Given the description of an element on the screen output the (x, y) to click on. 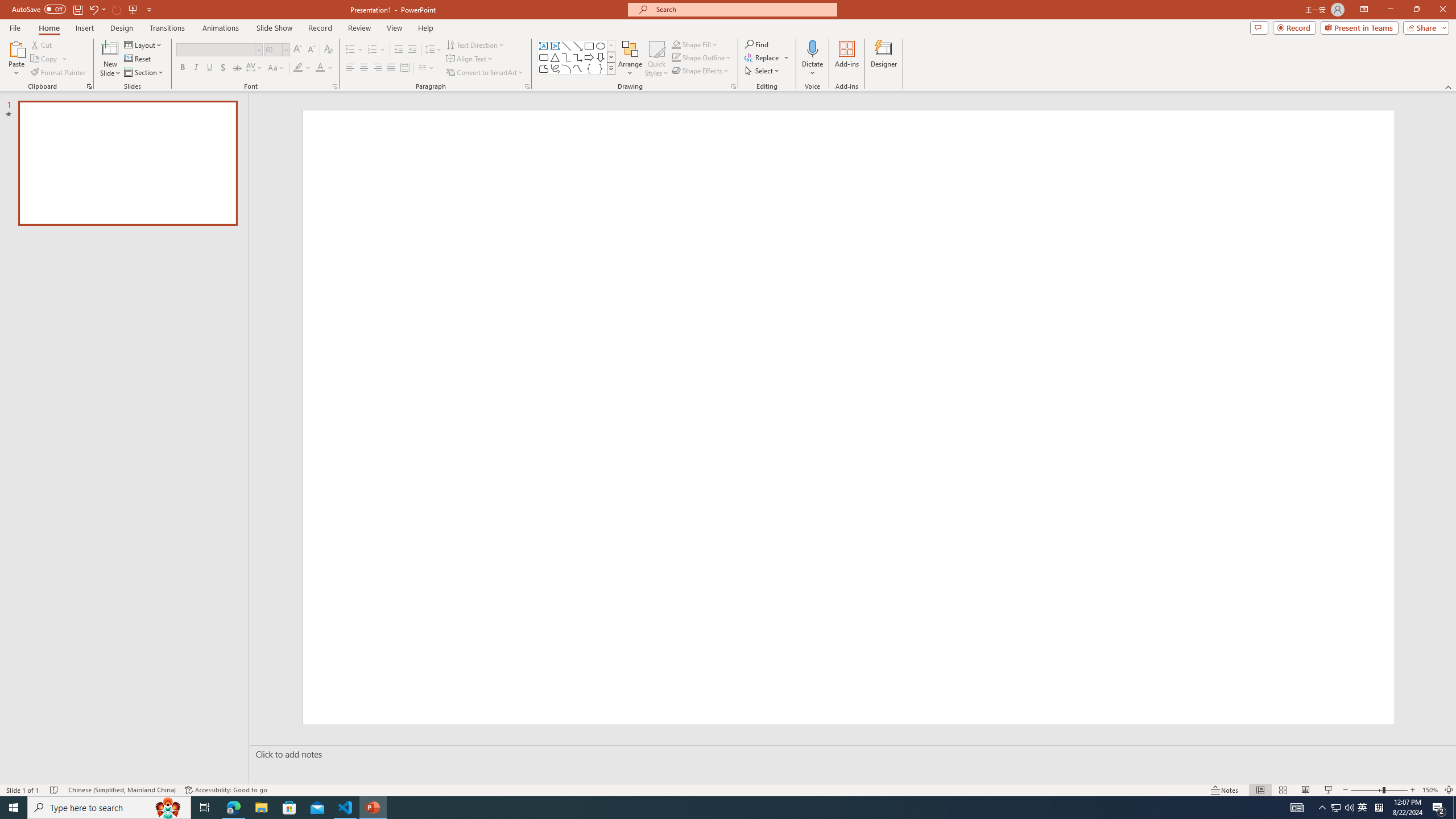
Align Text (470, 58)
Text Highlight Color (302, 67)
Class: MsoCommandBar (728, 789)
Change Case (276, 67)
Character Spacing (254, 67)
Justify (390, 67)
Font Color Red (320, 67)
Font Color (324, 67)
Left Brace (589, 68)
Select (762, 69)
